Given the description of an element on the screen output the (x, y) to click on. 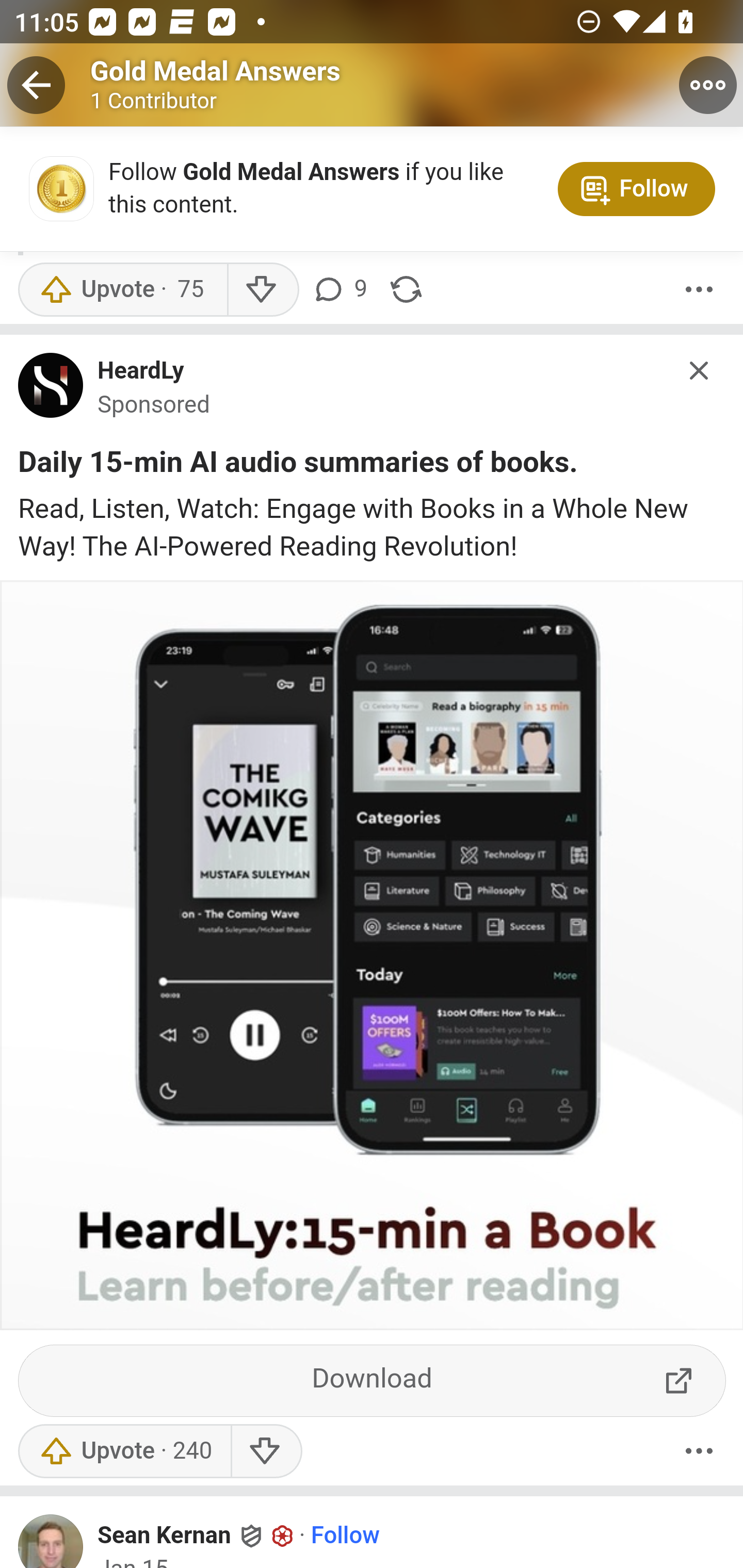
Upvote (122, 291)
Downvote (262, 291)
9 comments (342, 291)
Share (405, 291)
More (699, 291)
Hide (699, 372)
main-qimg-3f9e799c9a45d10c5fedda254b48a14b (50, 392)
HeardLy (141, 372)
Daily 15-min AI audio summaries of books. (297, 467)
Download ExternalLink (372, 1382)
Upvote (124, 1451)
Downvote (266, 1451)
More (699, 1451)
Profile photo for Sean Kernan (50, 1541)
Sean Kernan Sean Kernan     Space subscriber (195, 1535)
Follow (345, 1536)
Space subscriber (282, 1537)
